Given the description of an element on the screen output the (x, y) to click on. 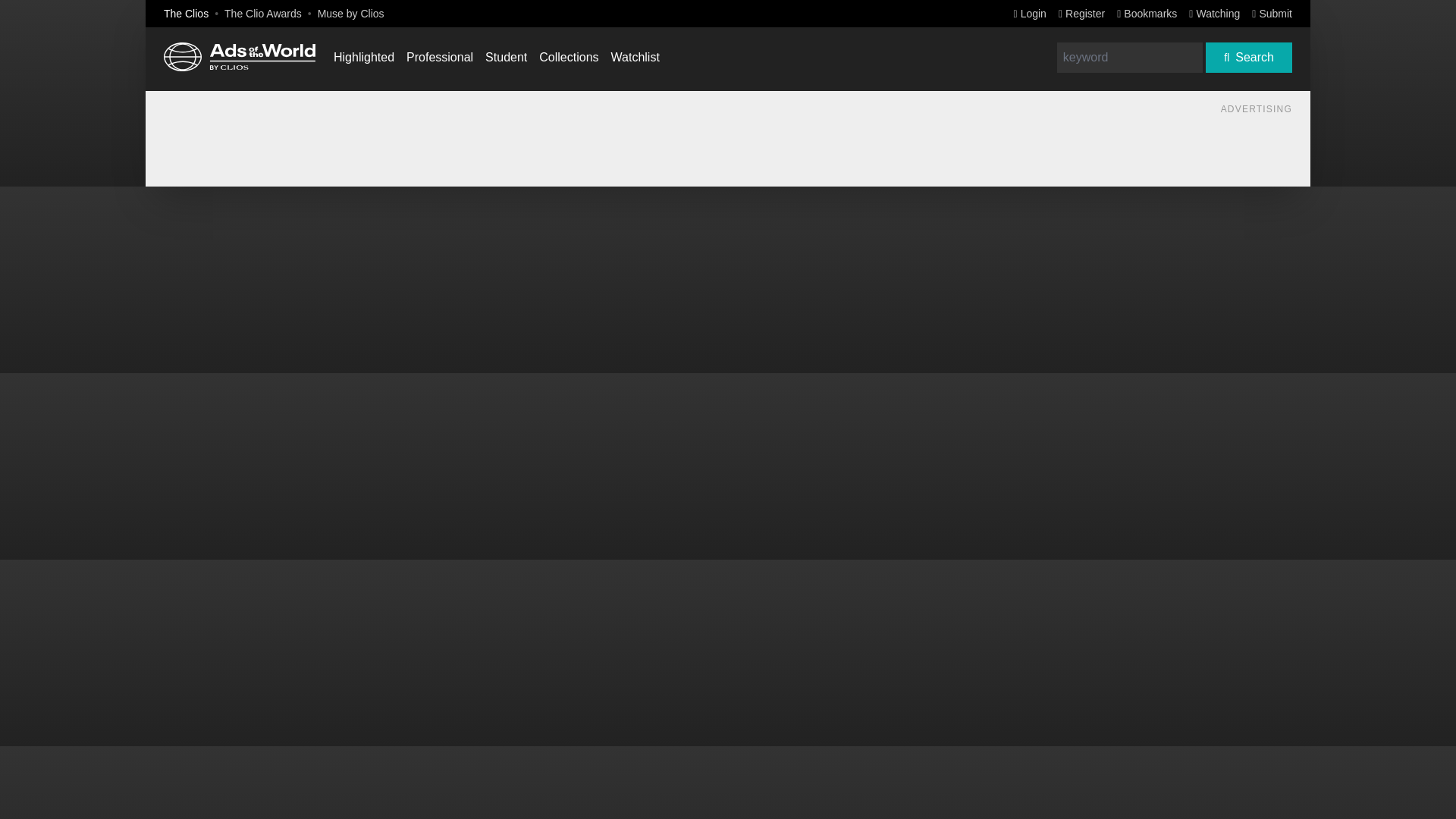
Professional (439, 56)
Submit (1272, 13)
Collections (568, 56)
The Clio Awards (262, 13)
Register (1081, 13)
Watching (1214, 13)
Watchlist (635, 56)
Highlighted (363, 56)
Search (1248, 57)
Bookmarks (1146, 13)
Bookmarks (1146, 13)
Student (505, 56)
Login (1029, 13)
Muse by Clios (350, 13)
Watching (1214, 13)
